Given the description of an element on the screen output the (x, y) to click on. 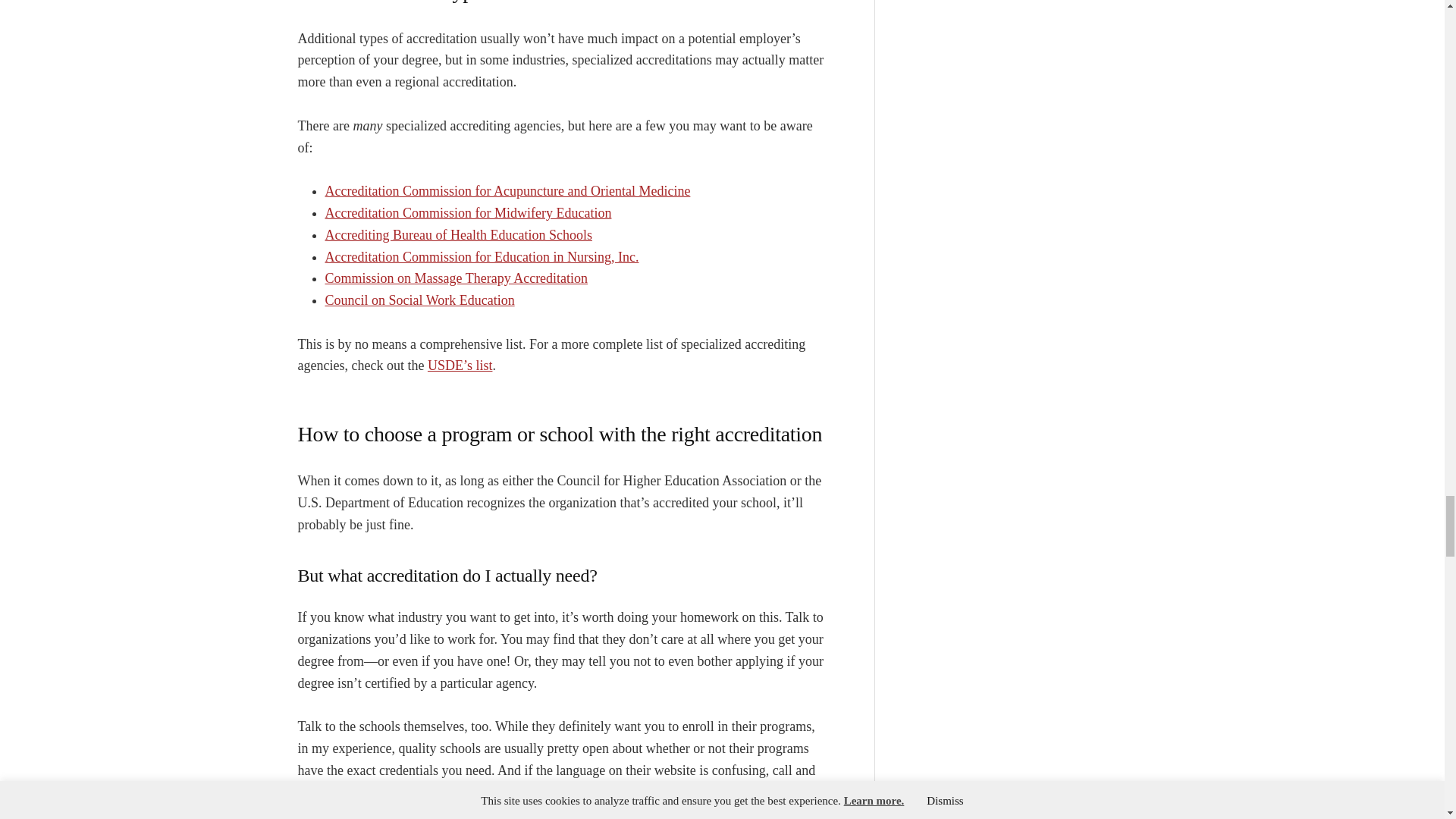
Accreditation Commission for Midwifery Education (467, 212)
Accreditation Commission for Education in Nursing, Inc. (481, 255)
Accrediting Bureau of Health Education Schools (457, 234)
